Given the description of an element on the screen output the (x, y) to click on. 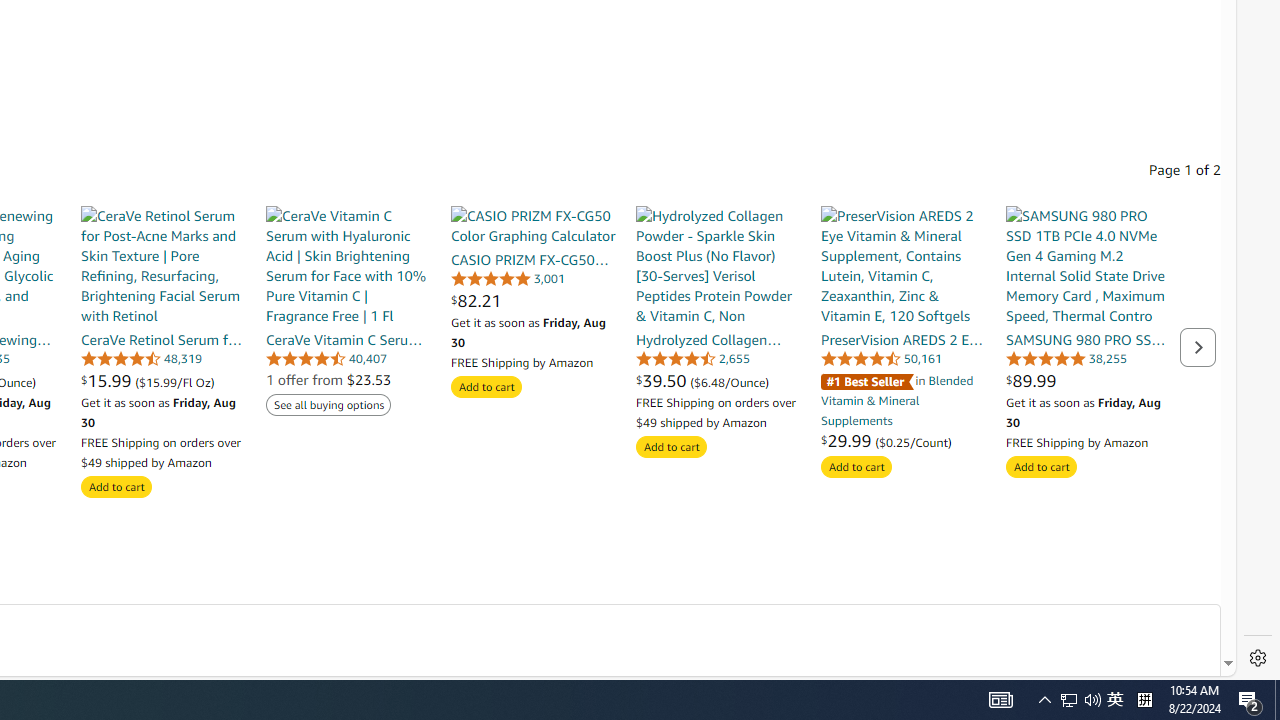
Class: a-link-normal (1088, 339)
CASIO PRIZM FX-CG50 Color Graphing Calculator (532, 225)
CASIO PRIZM FX-CG50 Color Graphing Calculator (532, 225)
$39.50  (663, 379)
$15.99  (107, 379)
1 offer from $23.53 (328, 379)
